Given the description of an element on the screen output the (x, y) to click on. 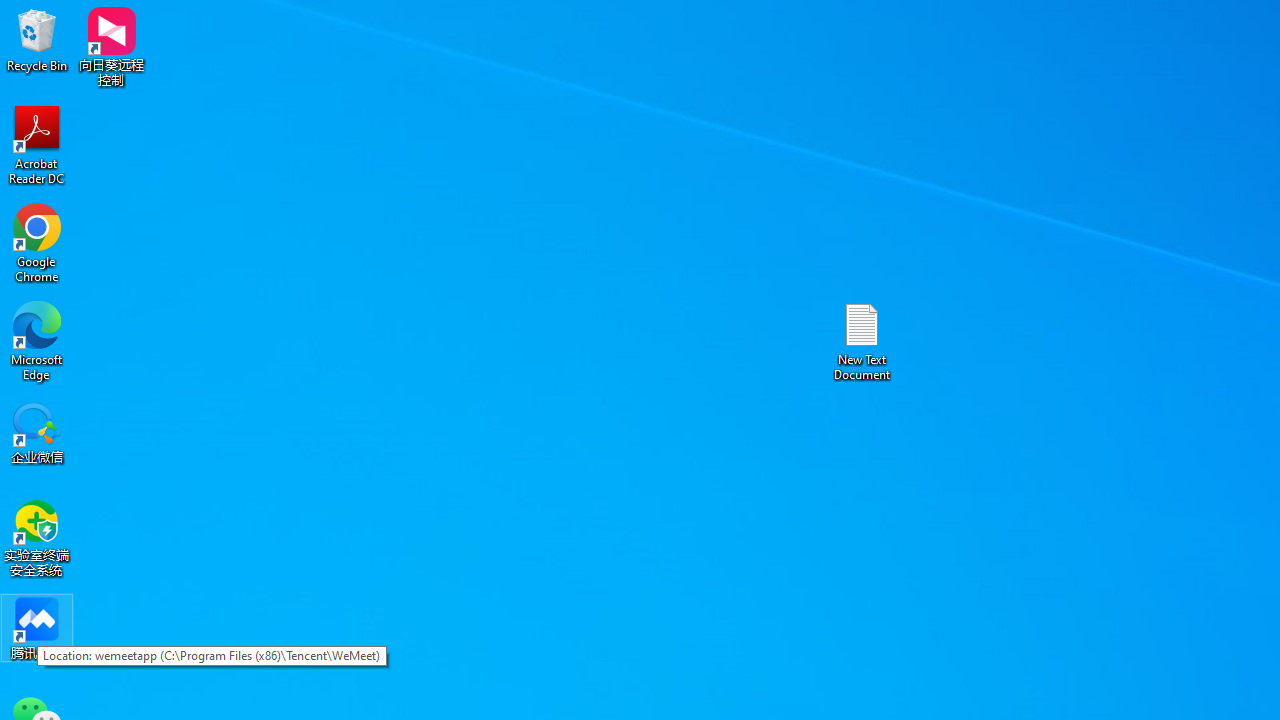
Google Chrome (37, 242)
Acrobat Reader DC (37, 144)
Recycle Bin (37, 39)
New Text Document (861, 340)
Microsoft Edge (37, 340)
